Given the description of an element on the screen output the (x, y) to click on. 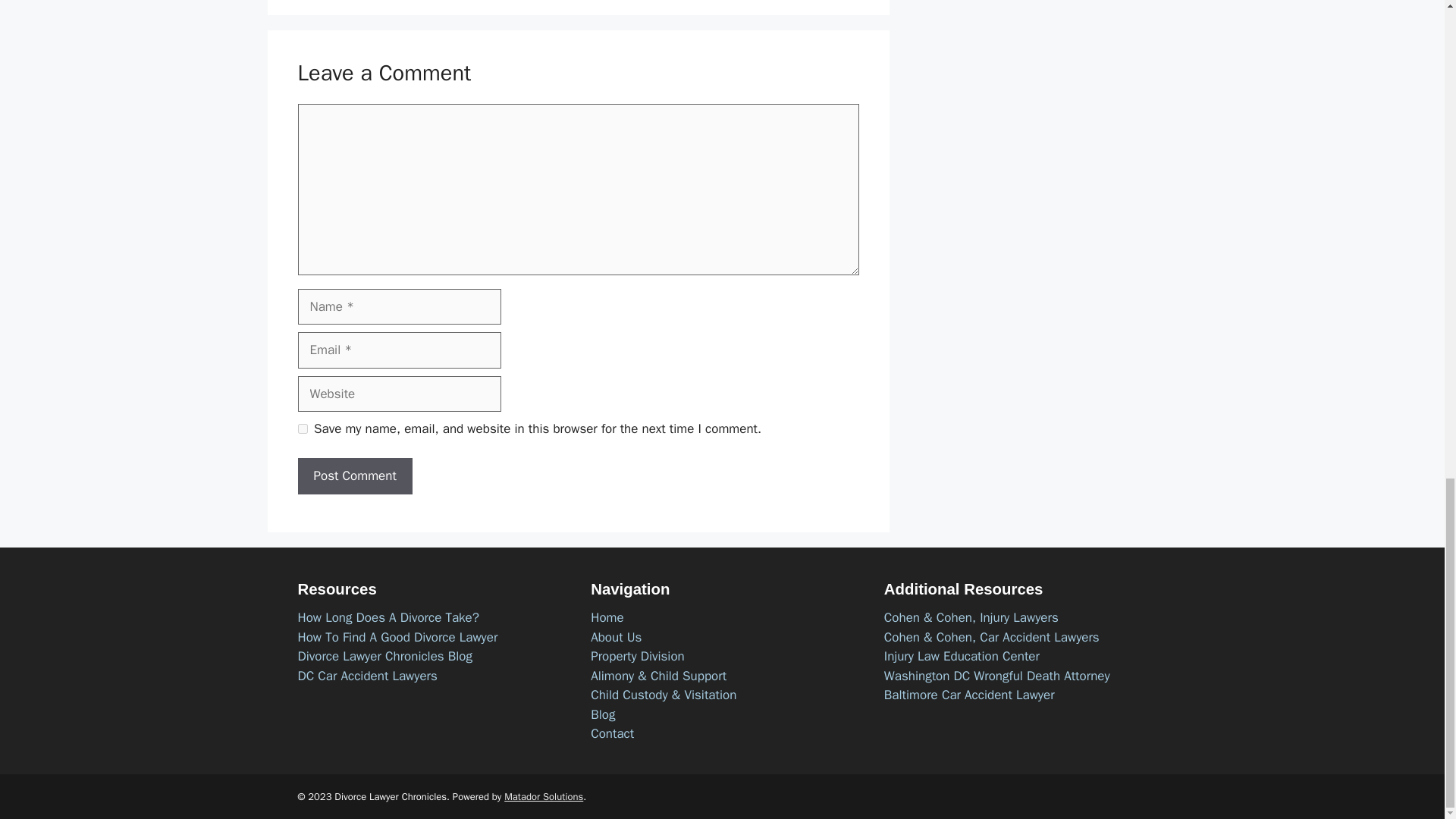
Washington DC Wrongful Death Attorney (996, 675)
Divorce Lawyer Chronicles Blog (384, 656)
Home (607, 617)
Matador Solutions (543, 796)
DC Car Accident Lawyers (366, 675)
How Long Does A Divorce Take? (388, 617)
About Us (616, 637)
Post Comment (354, 475)
Blog (602, 714)
Post Comment (354, 475)
How To Find A Good Divorce Lawyer (397, 637)
Property Division (637, 656)
Contact (612, 733)
yes (302, 429)
Baltimore Car Accident Lawyer (968, 694)
